Given the description of an element on the screen output the (x, y) to click on. 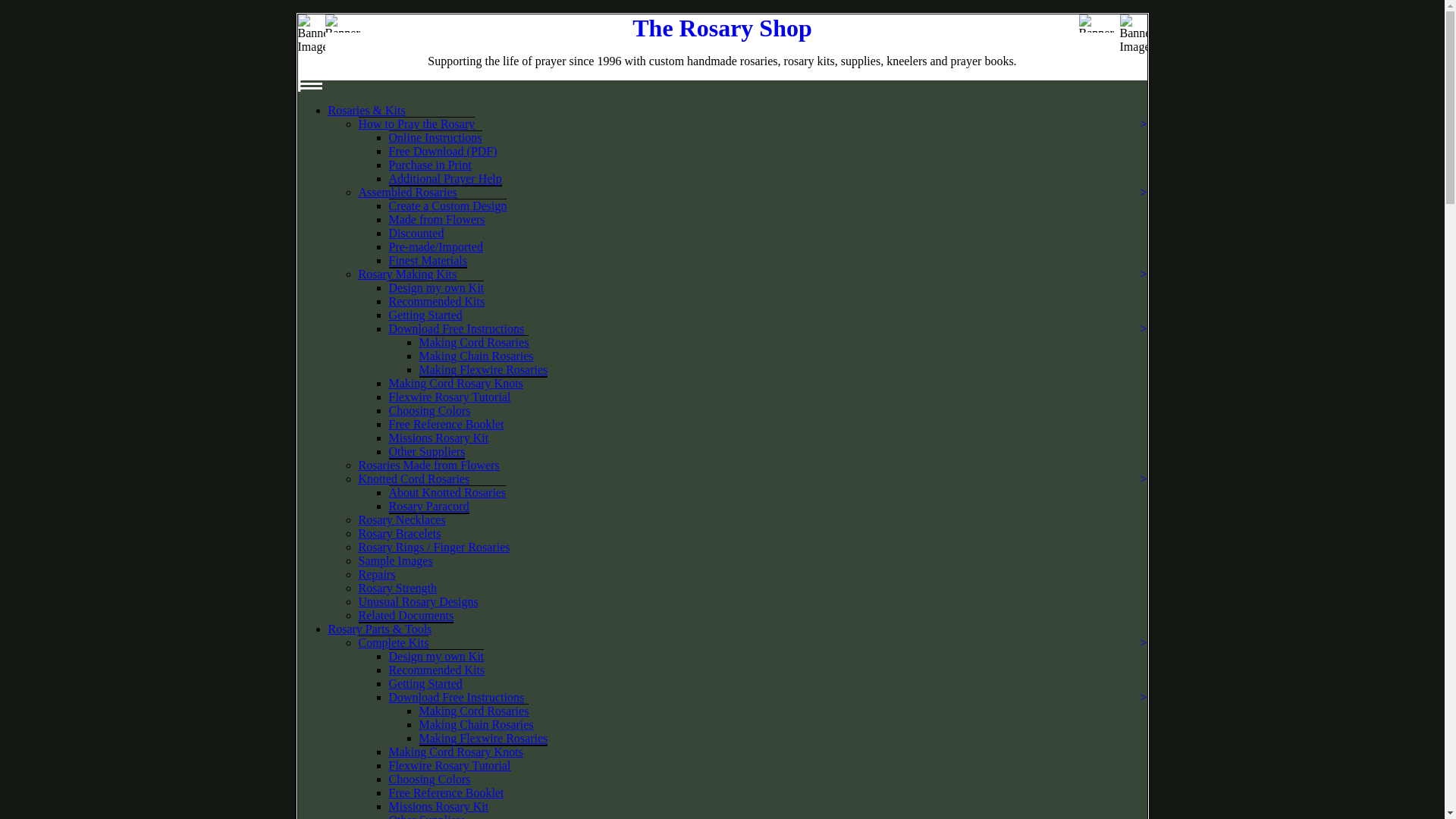
Made from Flowers (436, 219)
Related Documents (405, 616)
Banner Image (344, 23)
Rosaries Made from Flowers (428, 464)
Online Instructions (434, 137)
Flexwire Rosary Tutorial (449, 396)
Repairs (376, 574)
Getting Started (424, 314)
Banner Image (1098, 23)
About Knotted Rosaries (446, 491)
